Given the description of an element on the screen output the (x, y) to click on. 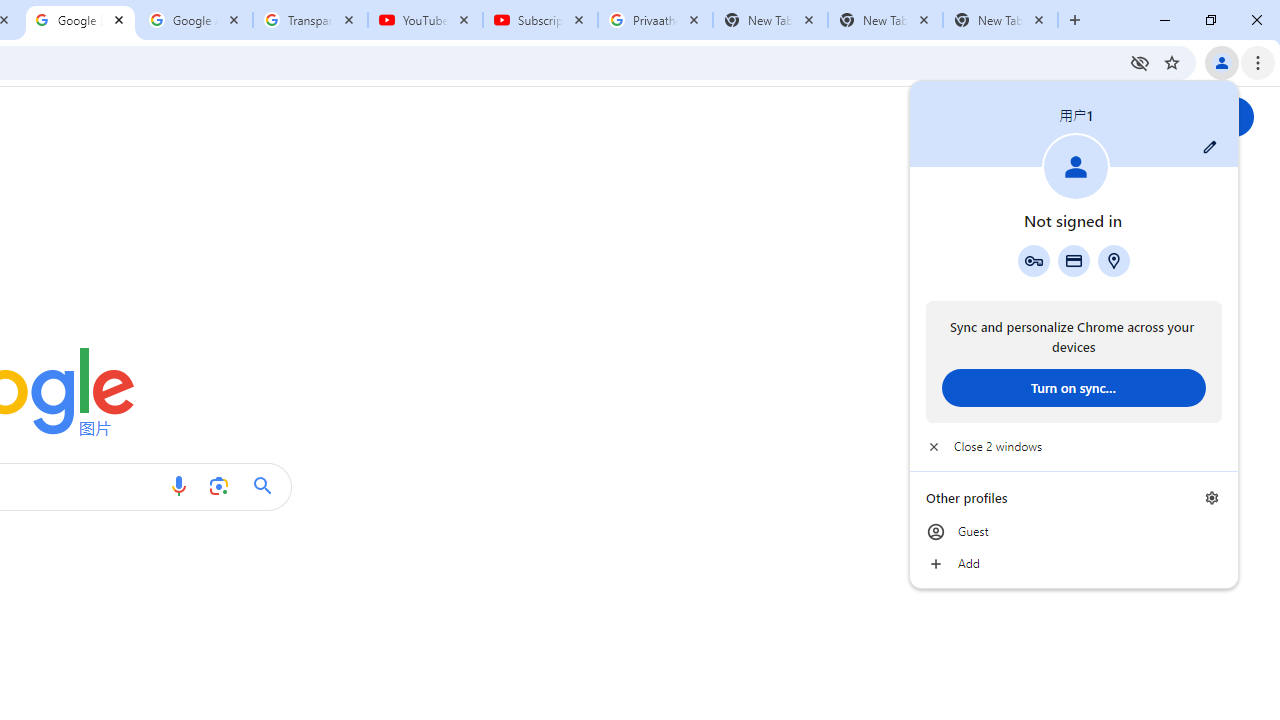
Manage profiles (1211, 498)
Add (1073, 563)
Close 2 windows (1073, 446)
Payment methods (1074, 260)
